Given the description of an element on the screen output the (x, y) to click on. 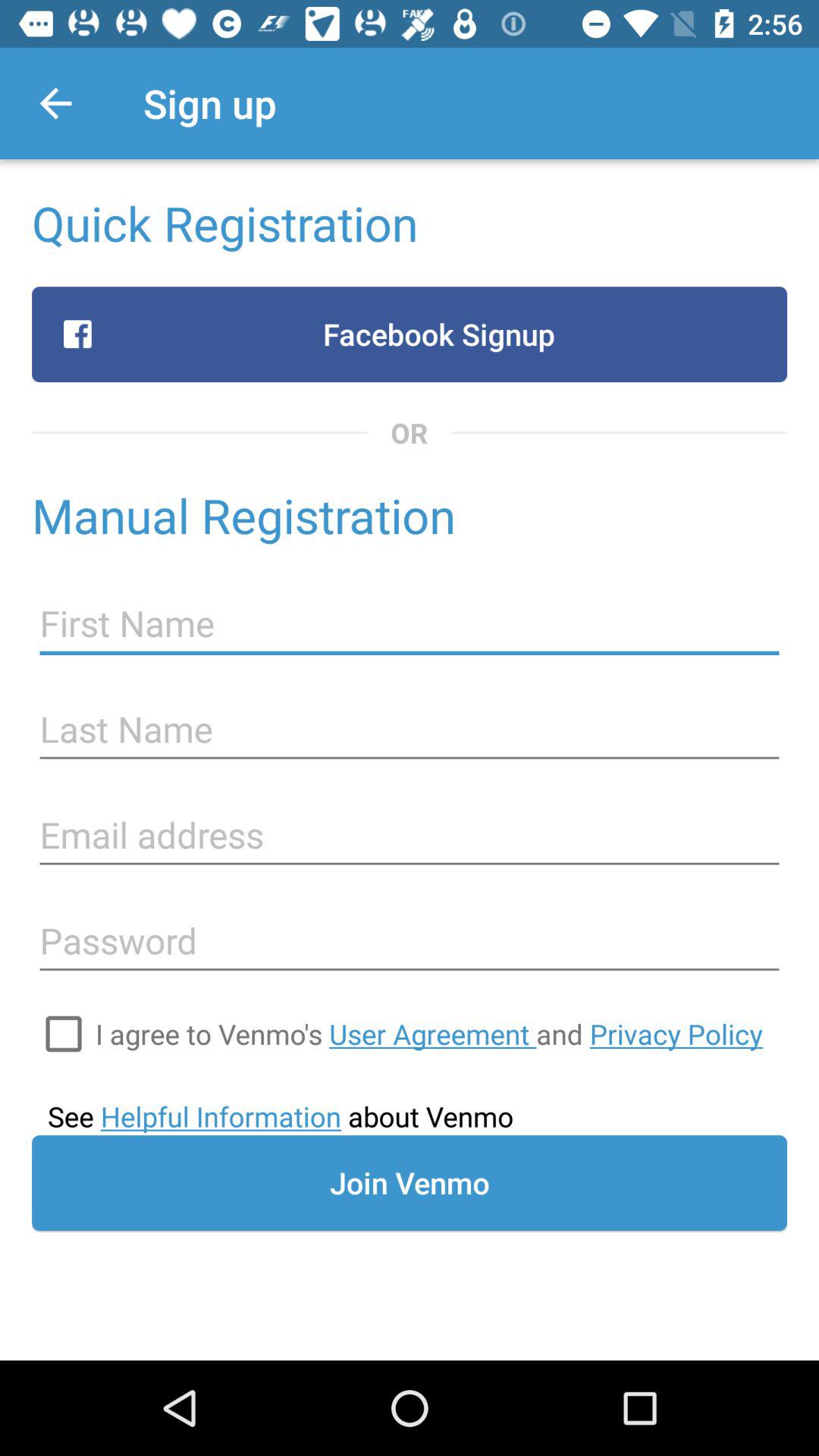
turn off icon above see helpful information (63, 1033)
